Given the description of an element on the screen output the (x, y) to click on. 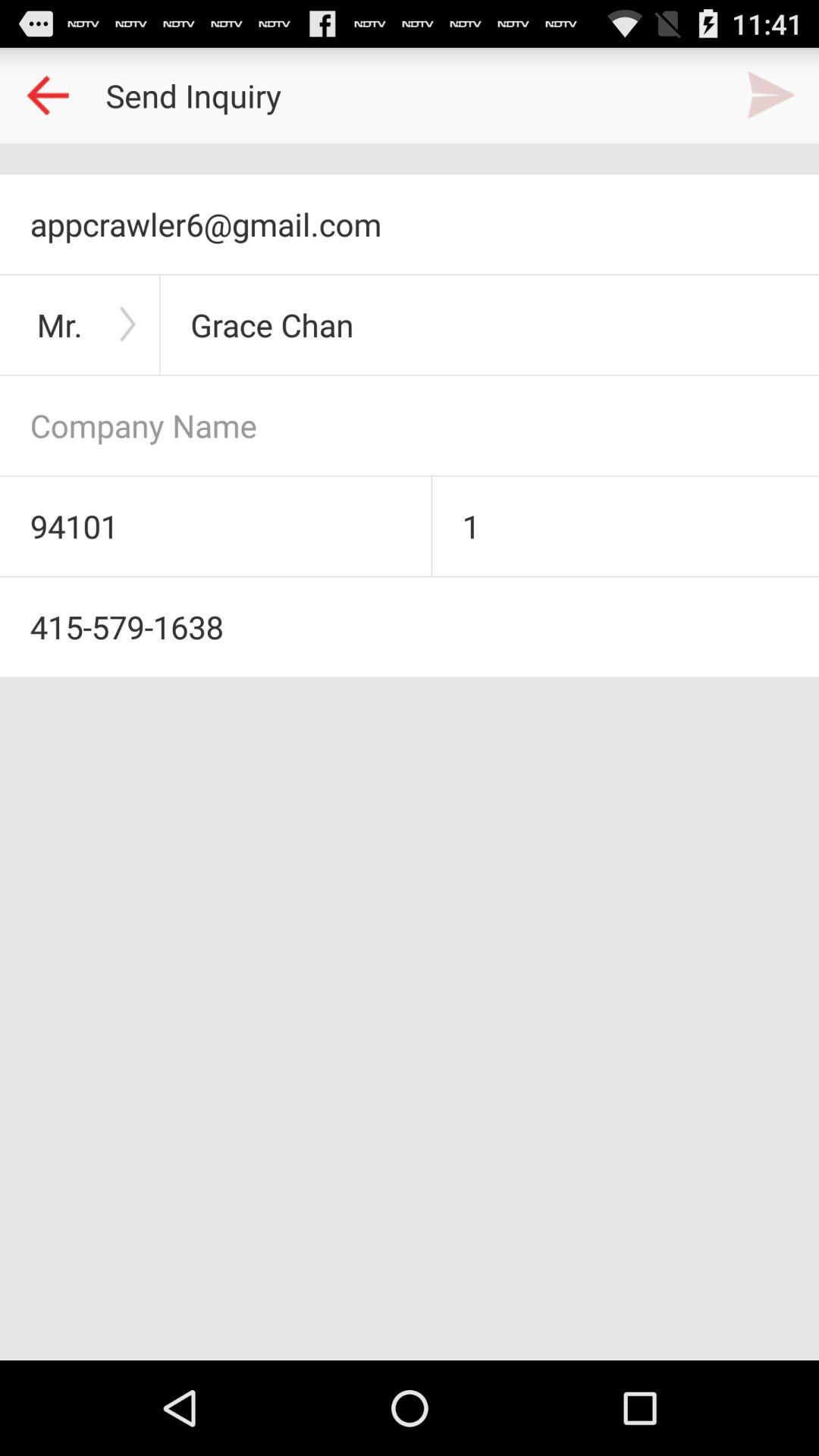
go back to previous page (47, 95)
